Given the description of an element on the screen output the (x, y) to click on. 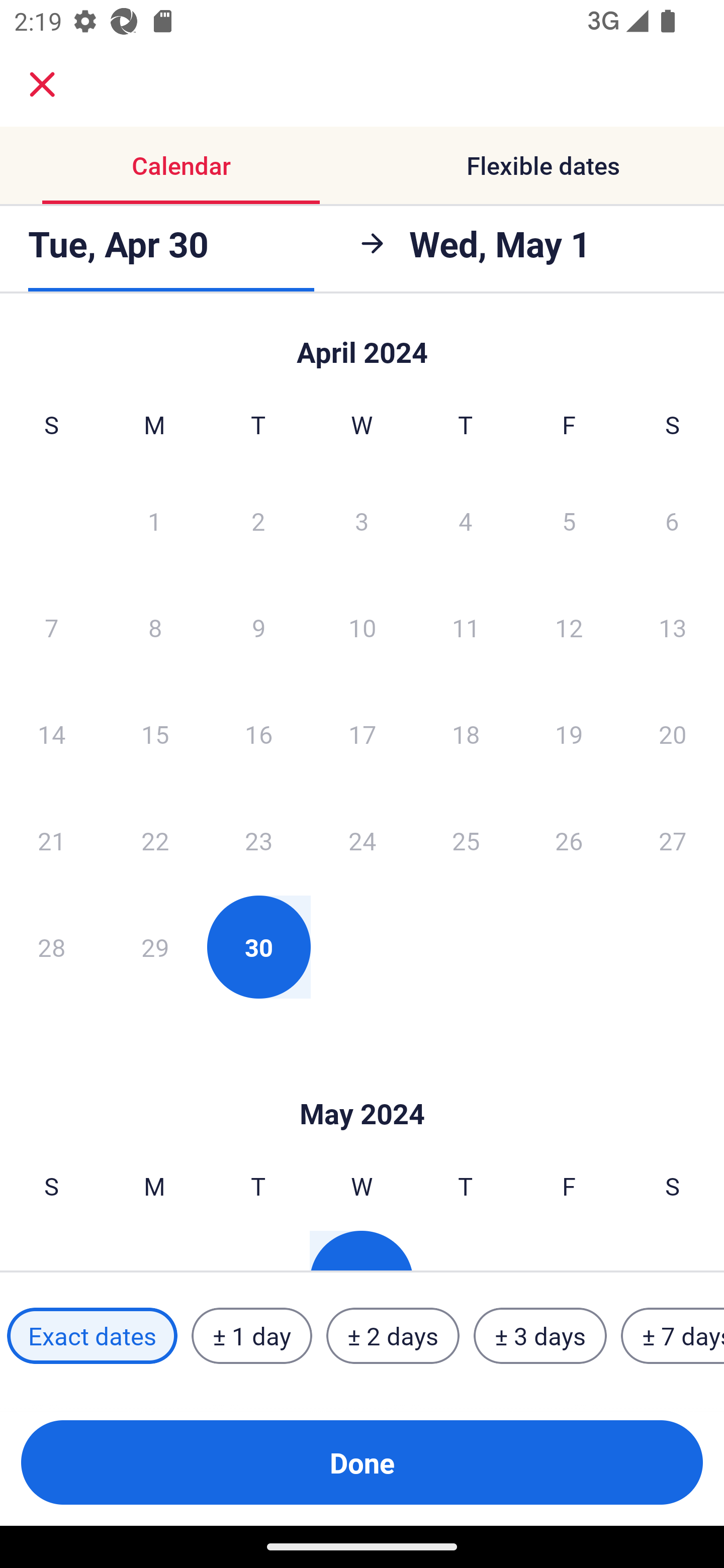
close. (42, 84)
Flexible dates (542, 164)
Skip to Done (362, 343)
1 Monday, April 1, 2024 (154, 520)
2 Tuesday, April 2, 2024 (257, 520)
3 Wednesday, April 3, 2024 (361, 520)
4 Thursday, April 4, 2024 (465, 520)
5 Friday, April 5, 2024 (568, 520)
6 Saturday, April 6, 2024 (672, 520)
7 Sunday, April 7, 2024 (51, 626)
8 Monday, April 8, 2024 (155, 626)
9 Tuesday, April 9, 2024 (258, 626)
10 Wednesday, April 10, 2024 (362, 626)
11 Thursday, April 11, 2024 (465, 626)
12 Friday, April 12, 2024 (569, 626)
13 Saturday, April 13, 2024 (672, 626)
14 Sunday, April 14, 2024 (51, 733)
15 Monday, April 15, 2024 (155, 733)
16 Tuesday, April 16, 2024 (258, 733)
17 Wednesday, April 17, 2024 (362, 733)
18 Thursday, April 18, 2024 (465, 733)
19 Friday, April 19, 2024 (569, 733)
20 Saturday, April 20, 2024 (672, 733)
21 Sunday, April 21, 2024 (51, 840)
22 Monday, April 22, 2024 (155, 840)
23 Tuesday, April 23, 2024 (258, 840)
24 Wednesday, April 24, 2024 (362, 840)
25 Thursday, April 25, 2024 (465, 840)
26 Friday, April 26, 2024 (569, 840)
27 Saturday, April 27, 2024 (672, 840)
28 Sunday, April 28, 2024 (51, 946)
29 Monday, April 29, 2024 (155, 946)
Skip to Done (362, 1083)
Exact dates (92, 1335)
± 1 day (251, 1335)
± 2 days (392, 1335)
± 3 days (539, 1335)
± 7 days (672, 1335)
Done (361, 1462)
